Given the description of an element on the screen output the (x, y) to click on. 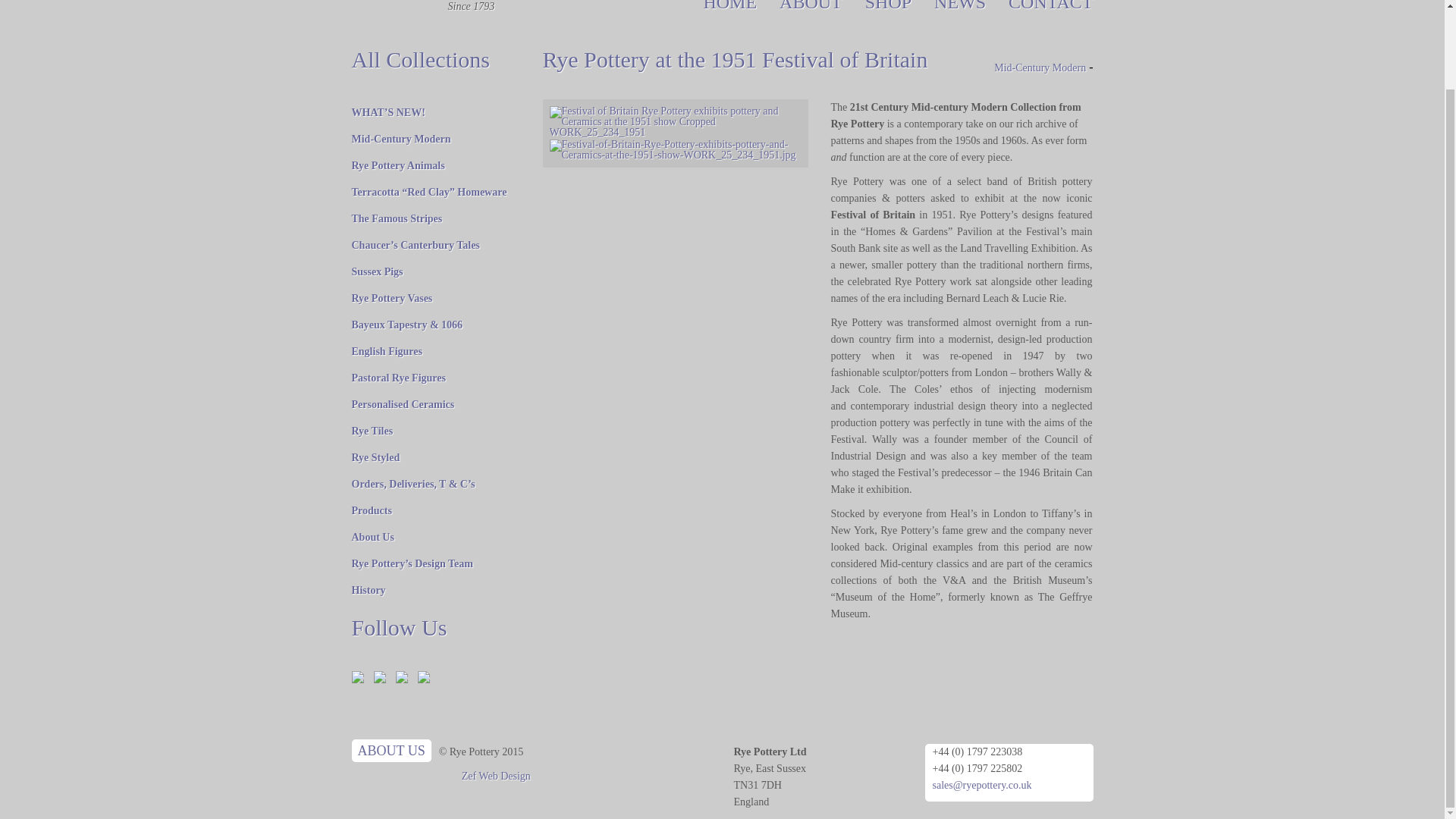
Pastoral Rye Figures (398, 378)
ABOUT (810, 6)
Mid-Century Modern (401, 138)
Share on Facebook (358, 676)
Sussex Pigs (377, 271)
SHOP (887, 6)
Pin it with Pinterest (404, 679)
Products (371, 510)
ABOUT US (391, 750)
Share on Twitter (381, 679)
